Given the description of an element on the screen output the (x, y) to click on. 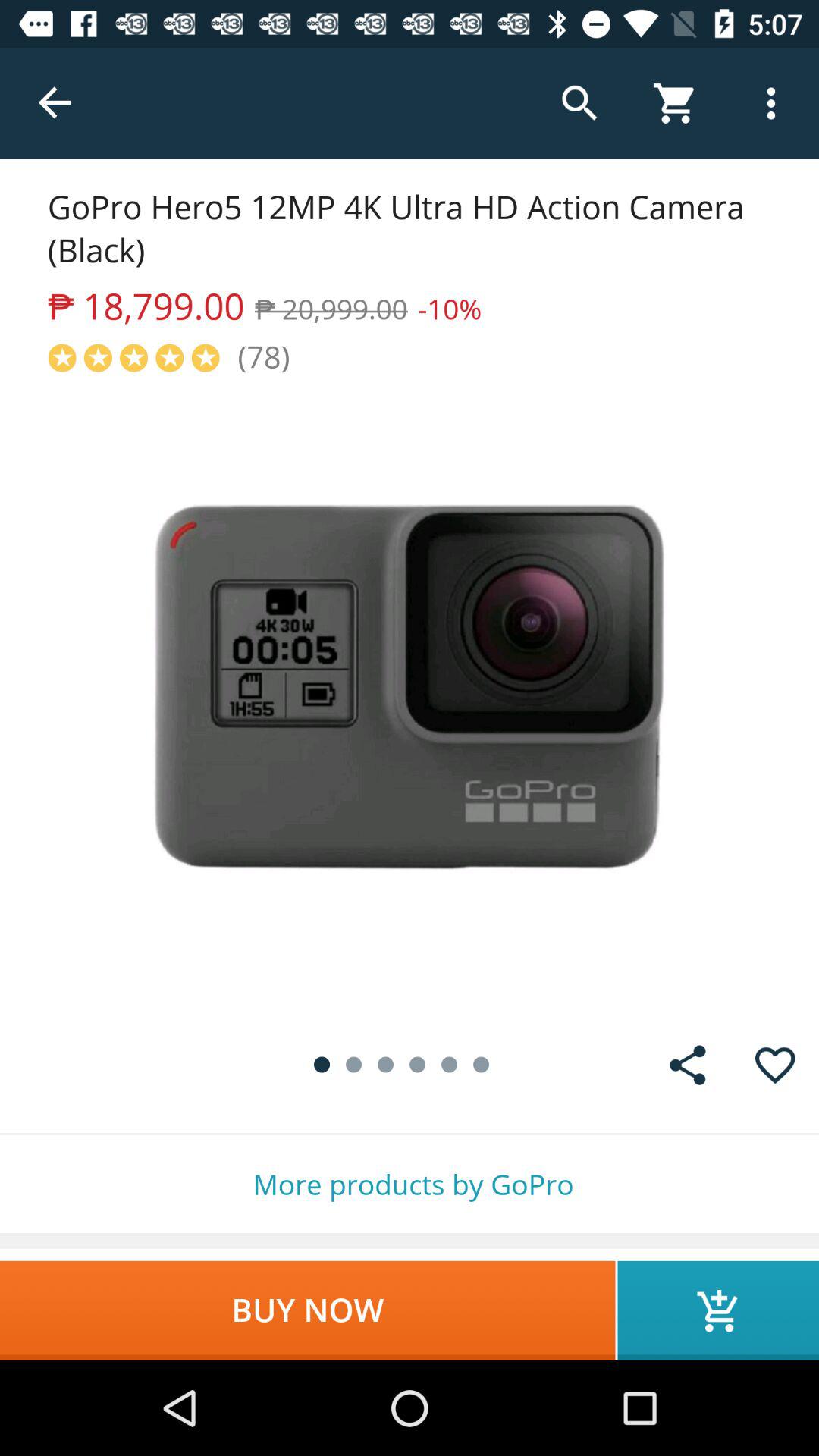
click on like option (775, 1065)
